Given the description of an element on the screen output the (x, y) to click on. 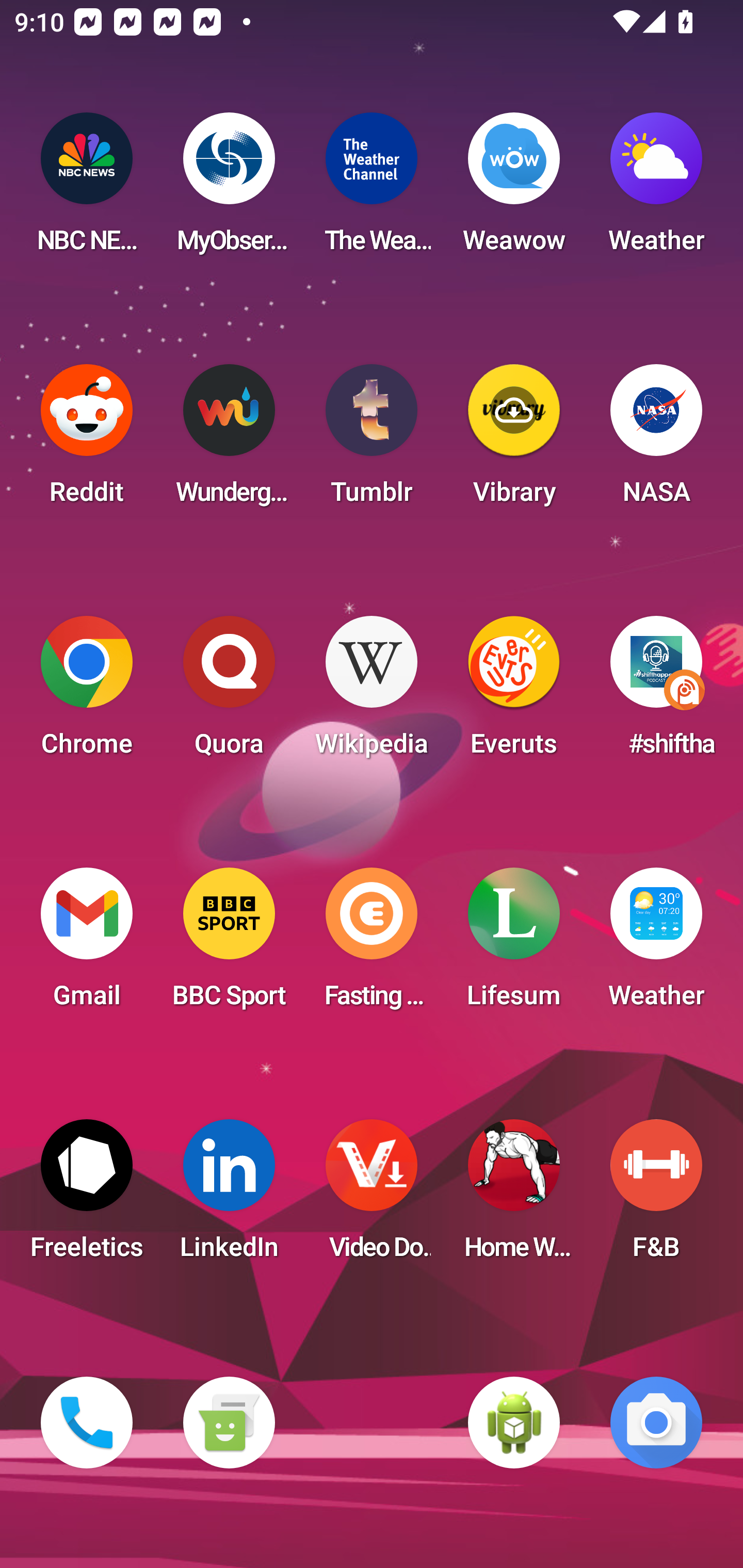
NBC NEWS (86, 188)
MyObservatory (228, 188)
The Weather Channel (371, 188)
Weawow (513, 188)
Weather (656, 188)
Reddit (86, 440)
Wunderground (228, 440)
Tumblr (371, 440)
Vibrary (513, 440)
NASA (656, 440)
Chrome (86, 692)
Quora (228, 692)
Wikipedia (371, 692)
Everuts (513, 692)
#shifthappens in the Digital Workplace Podcast (656, 692)
Gmail (86, 943)
BBC Sport (228, 943)
Fasting Coach (371, 943)
Lifesum (513, 943)
Weather (656, 943)
Freeletics (86, 1195)
LinkedIn (228, 1195)
Video Downloader & Ace Player (371, 1195)
Home Workout (513, 1195)
F&B (656, 1195)
Phone (86, 1422)
Messaging (228, 1422)
WebView Browser Tester (513, 1422)
Camera (656, 1422)
